Given the description of an element on the screen output the (x, y) to click on. 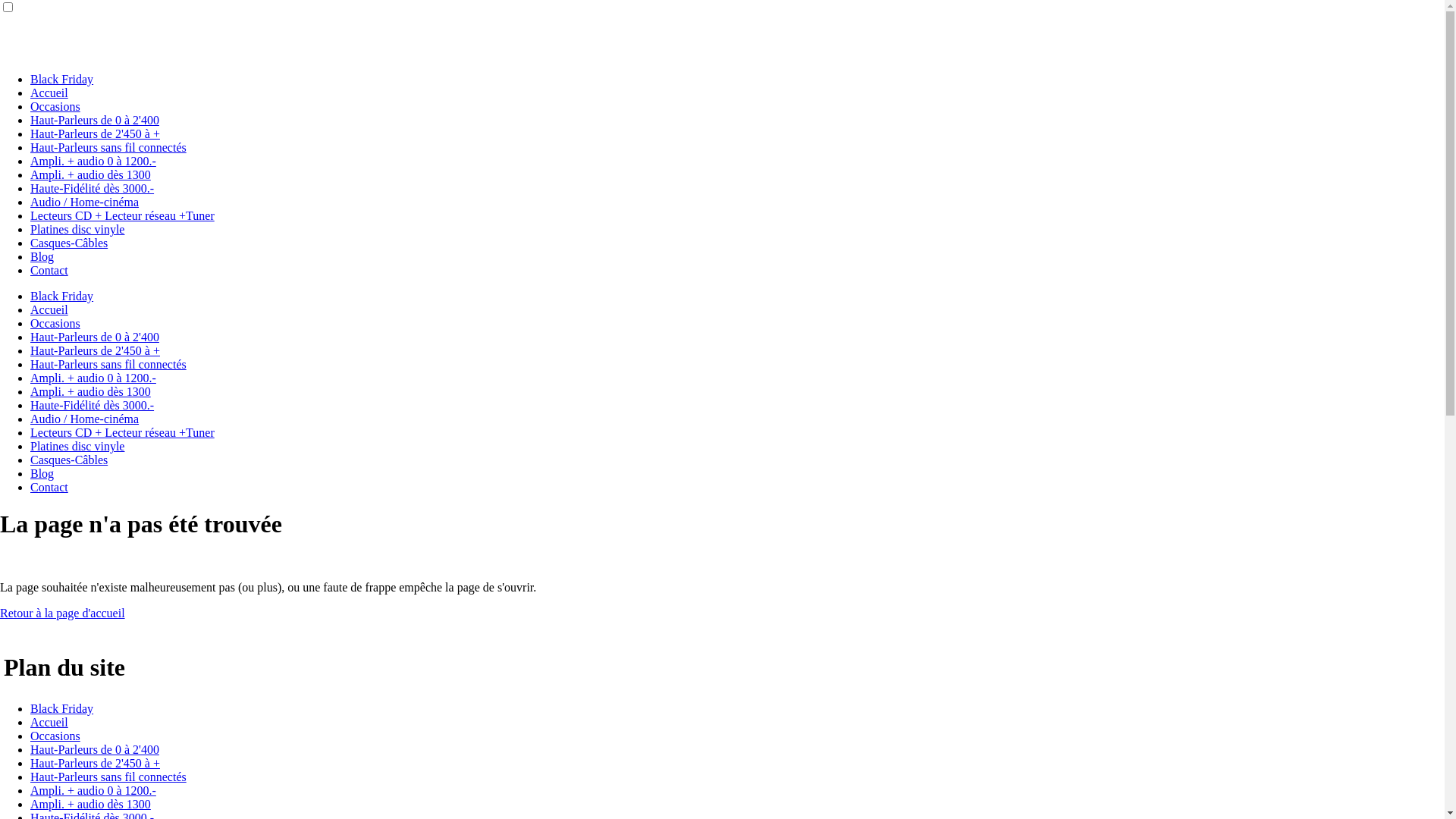
Accueil Element type: text (49, 721)
Occasions Element type: text (55, 322)
Platines disc vinyle Element type: text (77, 445)
Black Friday Element type: text (61, 78)
Occasions Element type: text (55, 735)
Platines disc vinyle Element type: text (77, 228)
Blog Element type: text (41, 256)
Black Friday Element type: text (61, 708)
Contact Element type: text (49, 486)
Occasions Element type: text (55, 106)
Black Friday Element type: text (61, 295)
Contact Element type: text (49, 269)
Accueil Element type: text (49, 92)
Accueil Element type: text (49, 309)
Blog Element type: text (41, 473)
